Given the description of an element on the screen output the (x, y) to click on. 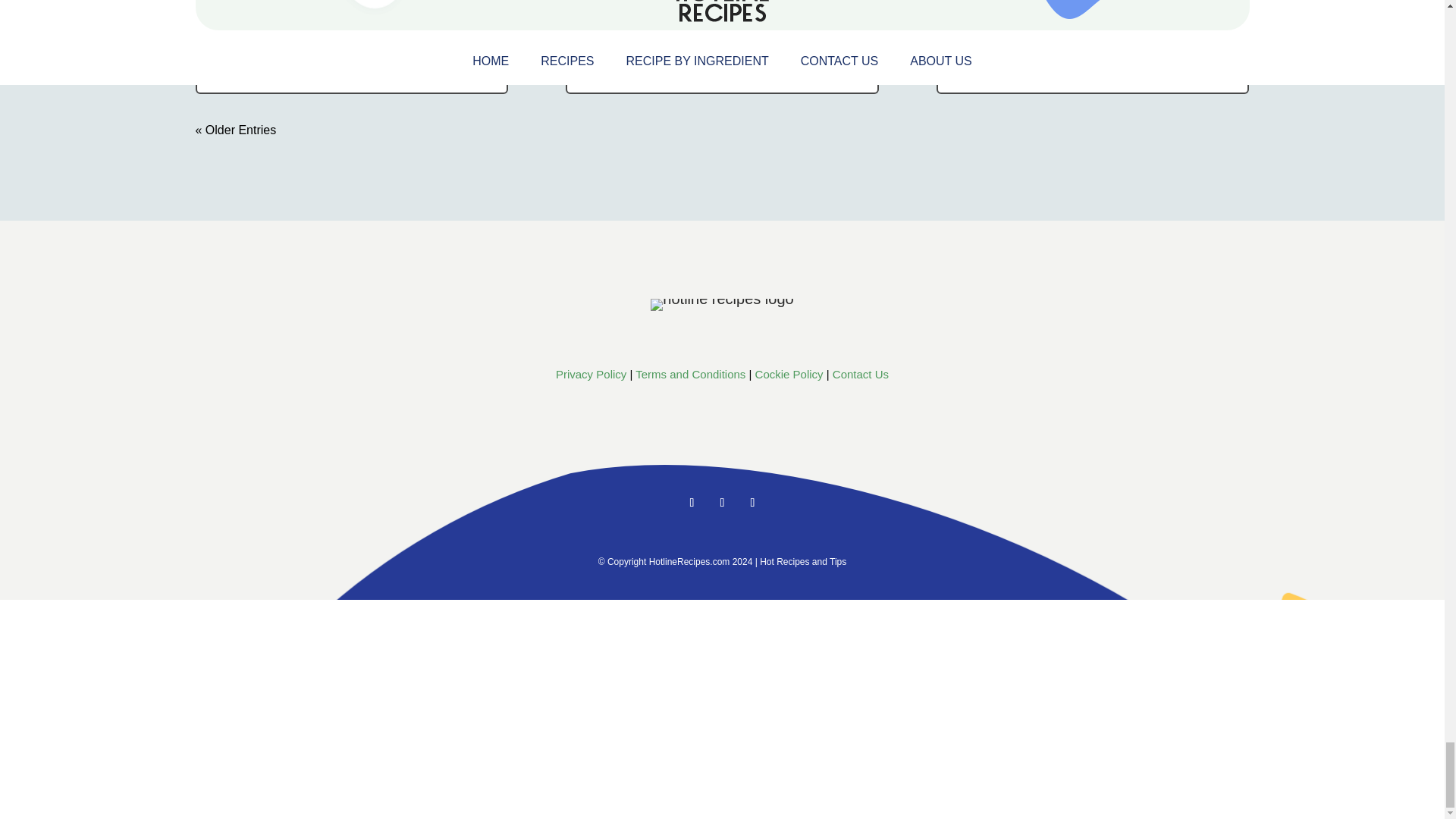
READ MORE (248, 65)
